Given the description of an element on the screen output the (x, y) to click on. 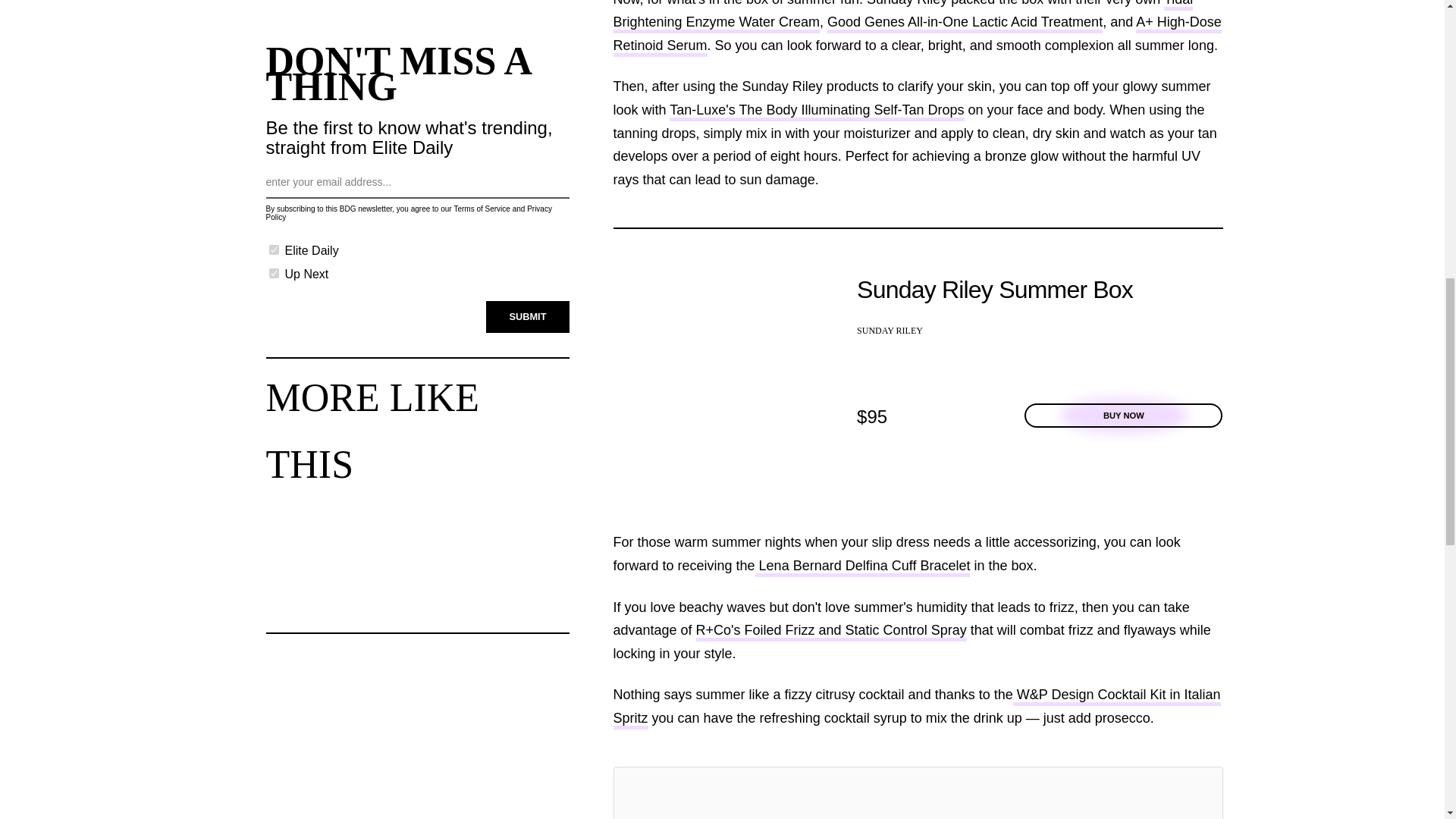
BUY NOW (1124, 415)
Privacy Policy (407, 212)
Tan-Luxe's The Body Illuminating Self-Tan Drops (816, 111)
Terms of Service (480, 208)
Tidal Brightening Enzyme Water Cream (902, 17)
Good Genes All-in-One Lactic Acid Treatment (964, 23)
SUBMIT (527, 316)
Lena Bernard Delfina Cuff Bracelet (863, 567)
